Given the description of an element on the screen output the (x, y) to click on. 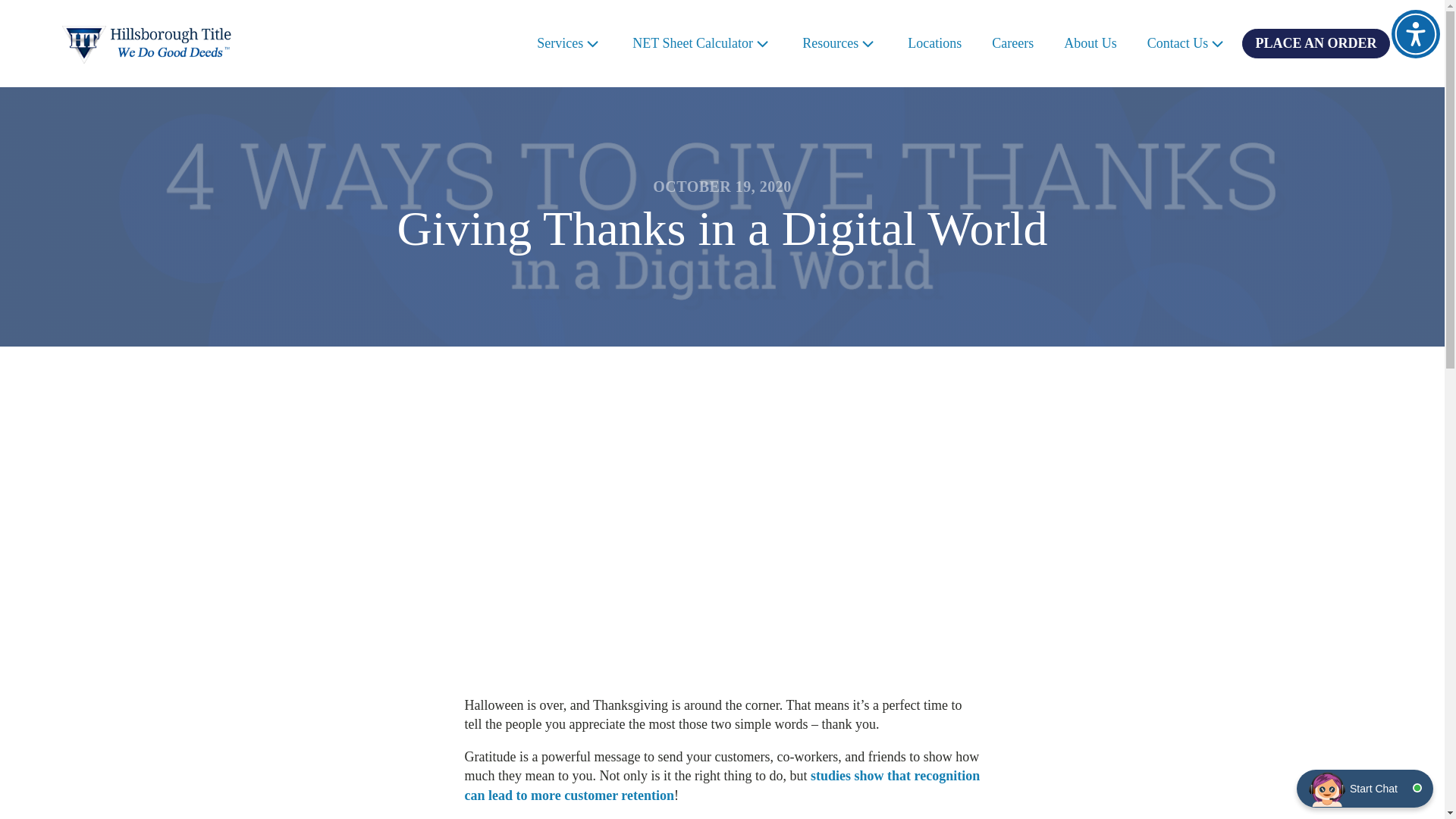
PLACE AN ORDER (1315, 43)
NET Sheet Calculator (702, 43)
Accessibility Menu (1415, 33)
Resources (839, 43)
Contact Us (1187, 43)
About Us (1090, 43)
Services (569, 43)
Locations (934, 43)
Careers (1012, 43)
